Given the description of an element on the screen output the (x, y) to click on. 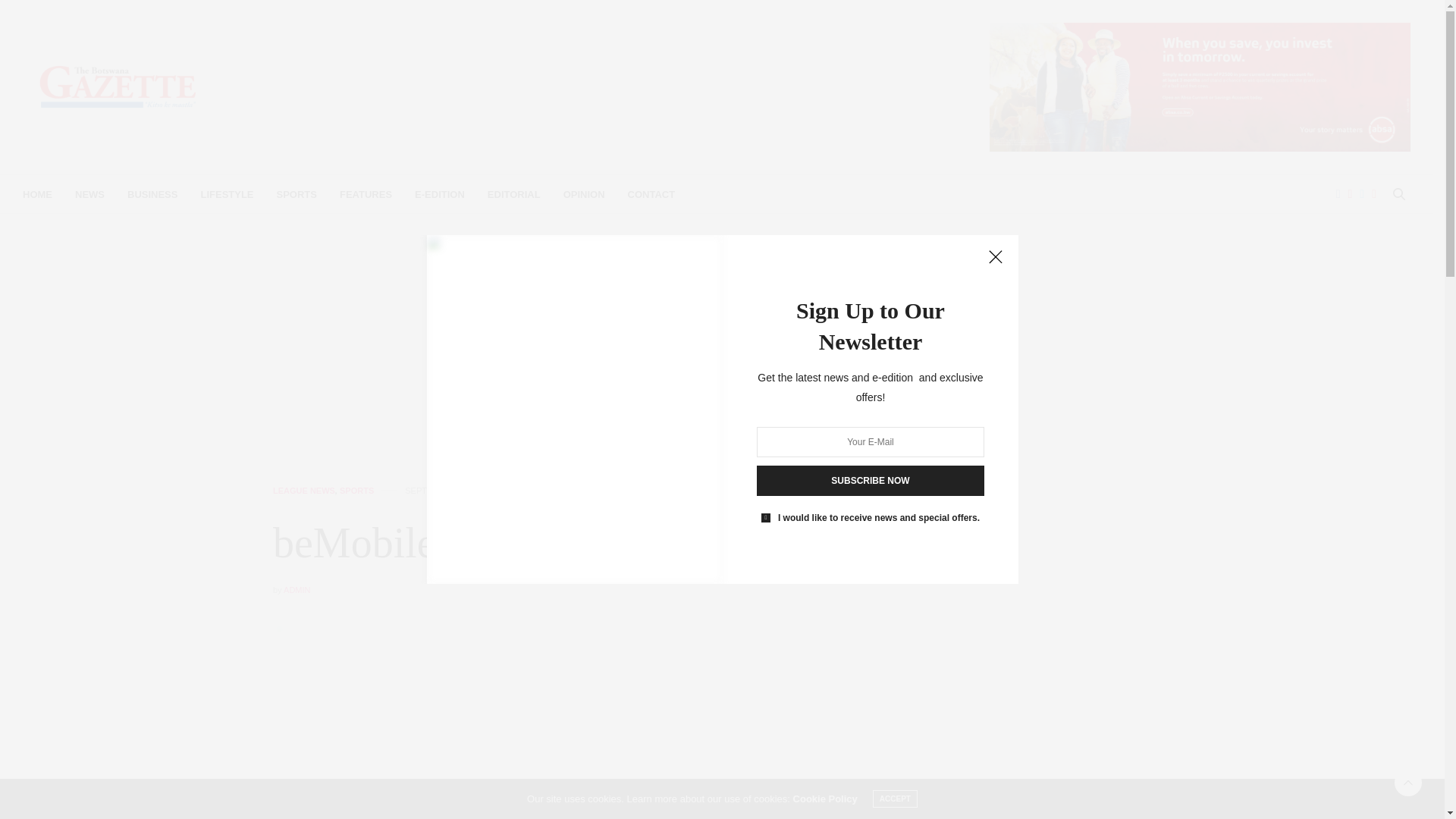
Posts by Admin (296, 589)
SPORTS (296, 193)
SPORTS (356, 490)
FEATURES (365, 193)
BUSINESS (152, 193)
SUBSCRIBE NOW (870, 481)
ADMIN (296, 589)
Scroll To Top (1408, 782)
EDITORIAL (513, 193)
E-EDITION (439, 193)
OPINION (584, 193)
CONTACT (651, 193)
LEAGUE NEWS (303, 490)
Botswana Gazette (117, 86)
LIFESTYLE (226, 193)
